Given the description of an element on the screen output the (x, y) to click on. 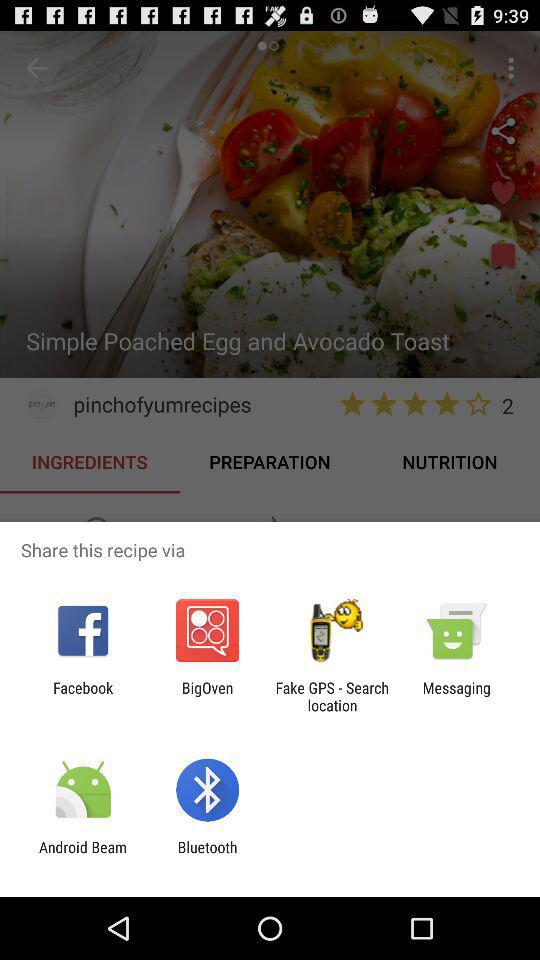
select bigoven (207, 696)
